Given the description of an element on the screen output the (x, y) to click on. 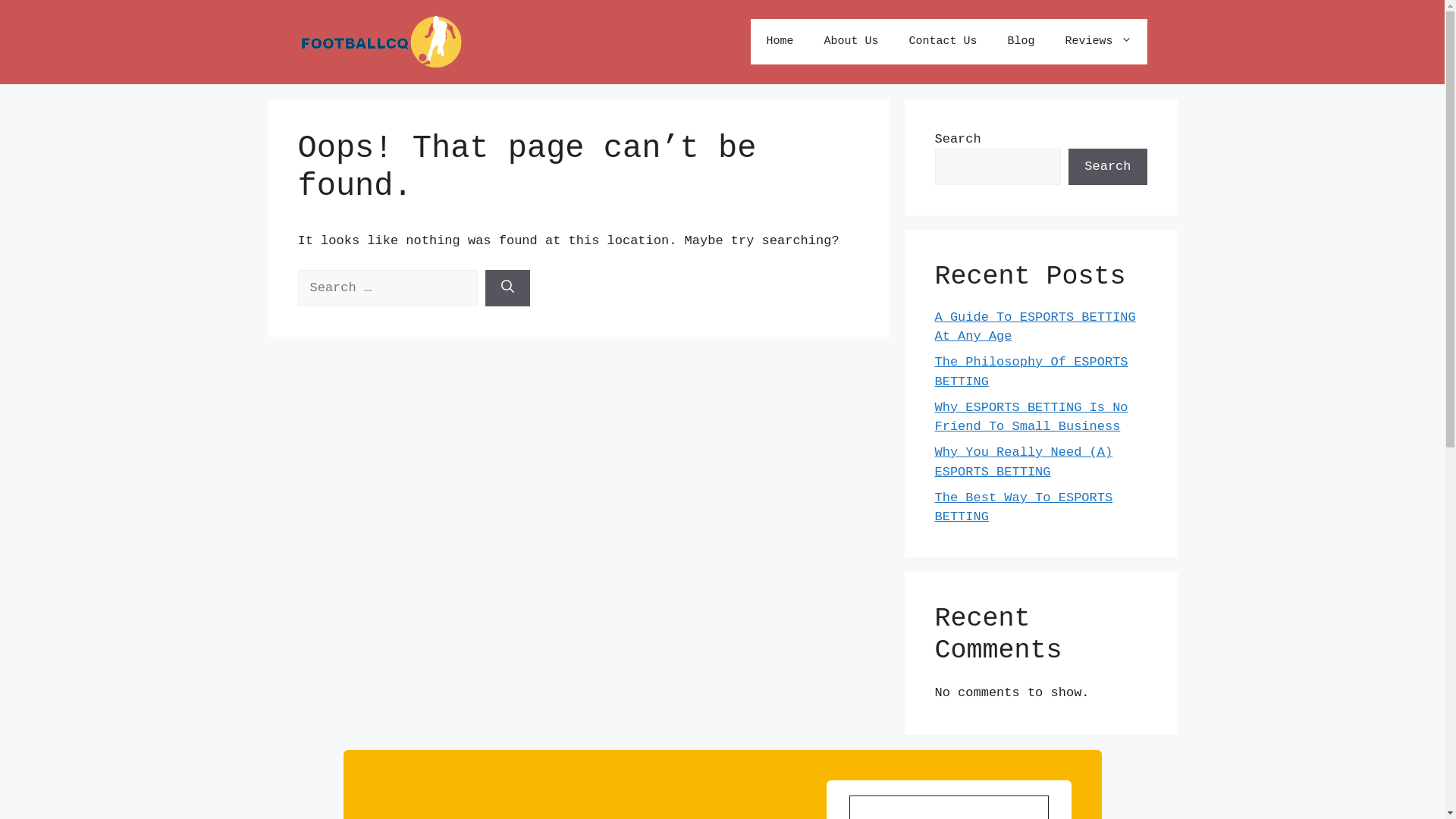
Search Element type: text (1107, 166)
Contact Us Element type: text (942, 41)
The Best Way To ESPORTS BETTING Element type: text (1023, 507)
Why ESPORTS BETTING Is No Friend To Small Business Element type: text (1030, 417)
A Guide To ESPORTS BETTING At Any Age Element type: text (1034, 327)
Blog Element type: text (1020, 41)
Search for: Element type: hover (386, 287)
Home Element type: text (779, 41)
The Philosophy Of ESPORTS BETTING Element type: text (1030, 371)
About Us Element type: text (850, 41)
Reviews Element type: text (1097, 41)
Why You Really Need (A) ESPORTS BETTING Element type: text (1023, 462)
